Given the description of an element on the screen output the (x, y) to click on. 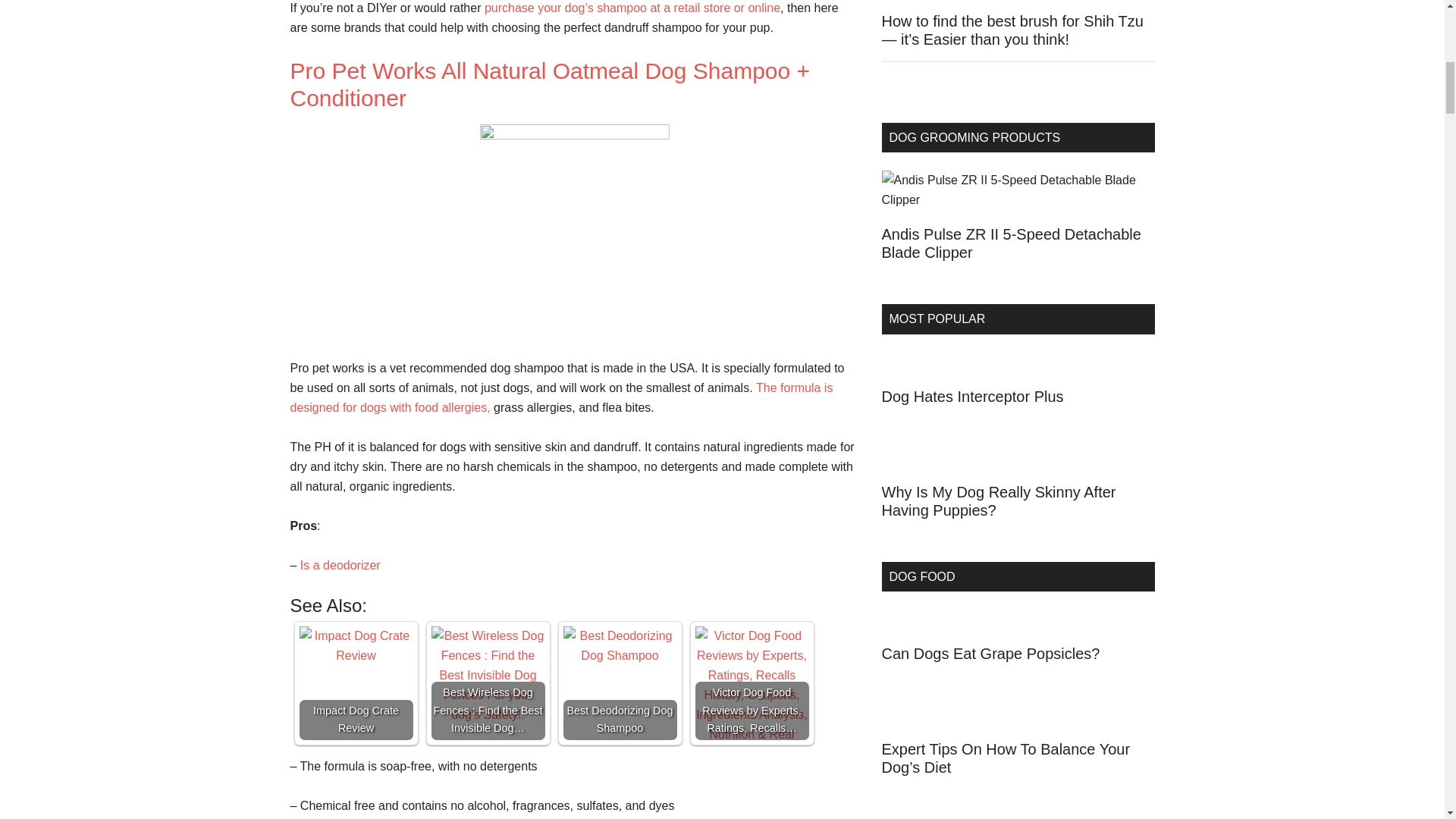
The formula is designed for dogs with food allergies, (560, 397)
Is a deodorizer (339, 564)
Best Deodorizing Dog Shampoo (619, 683)
Impact Dog Crate Review (355, 645)
Best Deodorizing Dog Shampoo (619, 645)
Impact Dog Crate Review (355, 683)
